Given the description of an element on the screen output the (x, y) to click on. 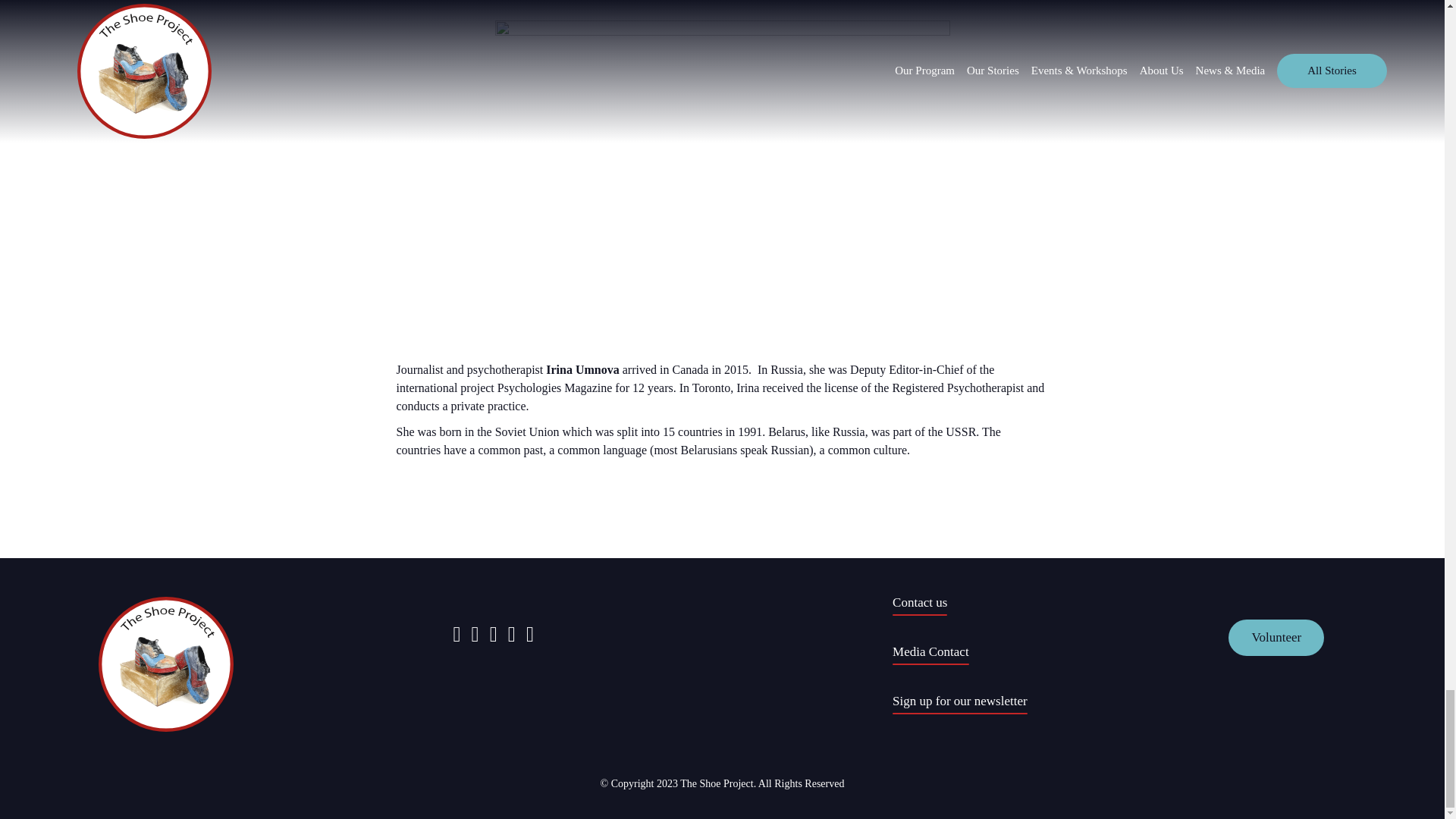
Contact us (919, 605)
Media Contact (930, 654)
Sign up for our newsletter (959, 703)
Volunteer (1275, 637)
